Given the description of an element on the screen output the (x, y) to click on. 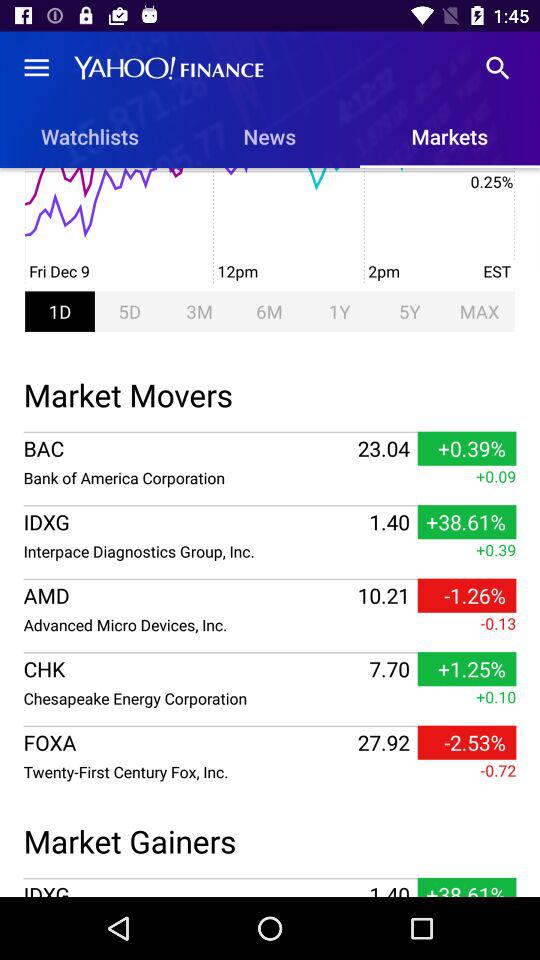
turn off icon above +0.10 (269, 652)
